Given the description of an element on the screen output the (x, y) to click on. 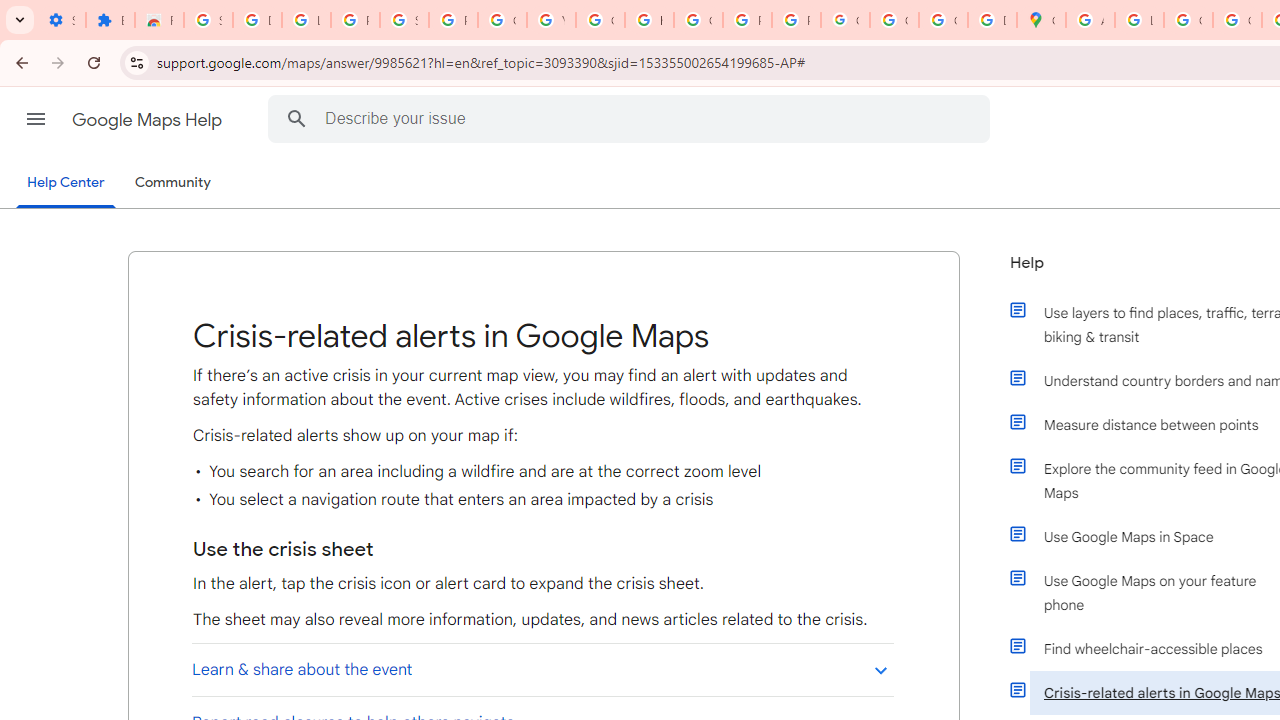
Sign in - Google Accounts (208, 20)
Settings - On startup (61, 20)
Google Maps Help (148, 119)
https://scholar.google.com/ (649, 20)
Community (171, 183)
YouTube (551, 20)
Search Help Center (297, 118)
